Given the description of an element on the screen output the (x, y) to click on. 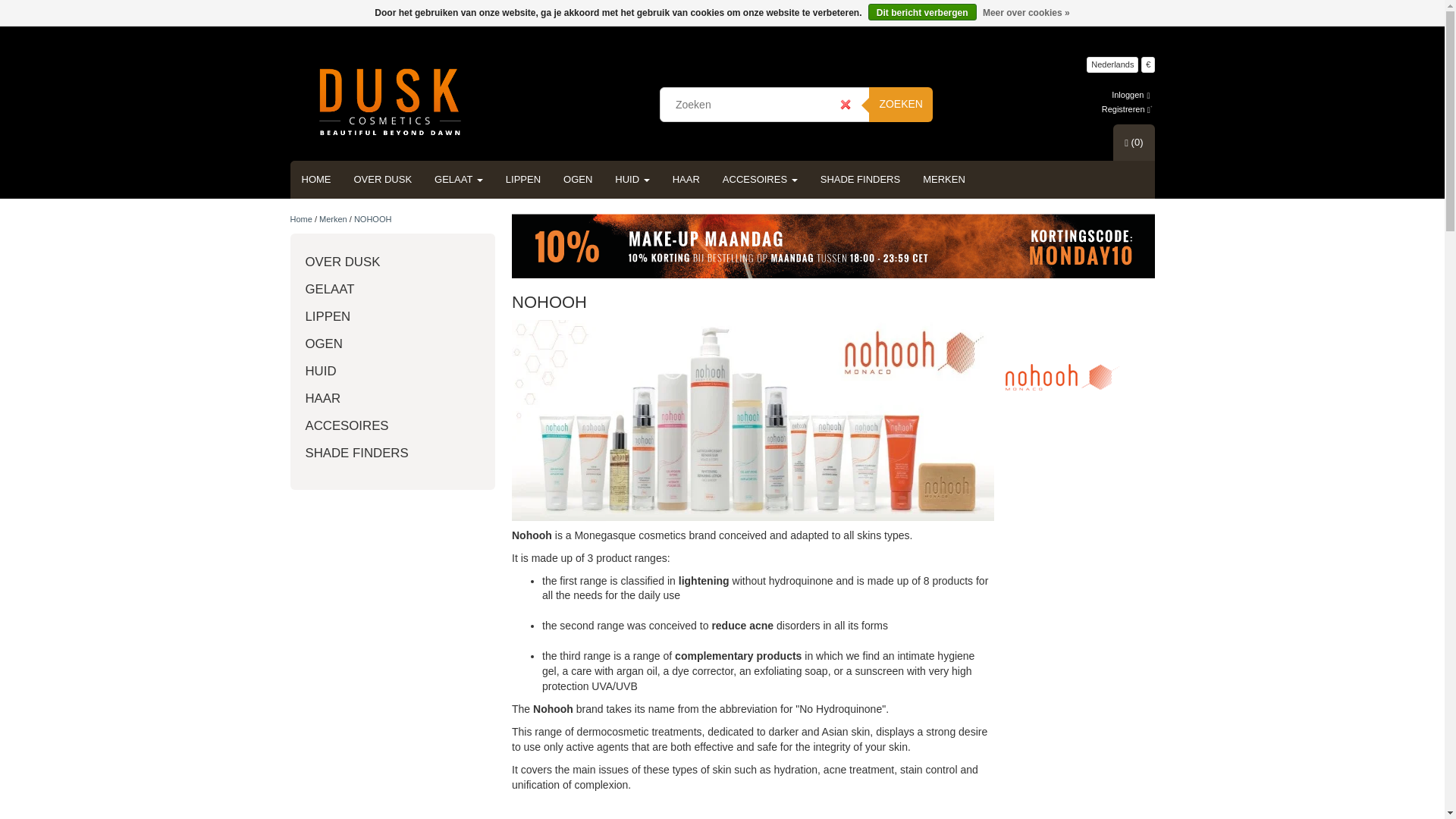
Zoeken (901, 104)
HOME (315, 179)
DUSK Cosmetics (389, 102)
GELAAT (459, 179)
ZOEKEN (901, 104)
Registreren (1127, 108)
Inloggen (1131, 94)
OVER DUSK (382, 179)
Nederlands (1112, 64)
